Given the description of an element on the screen output the (x, y) to click on. 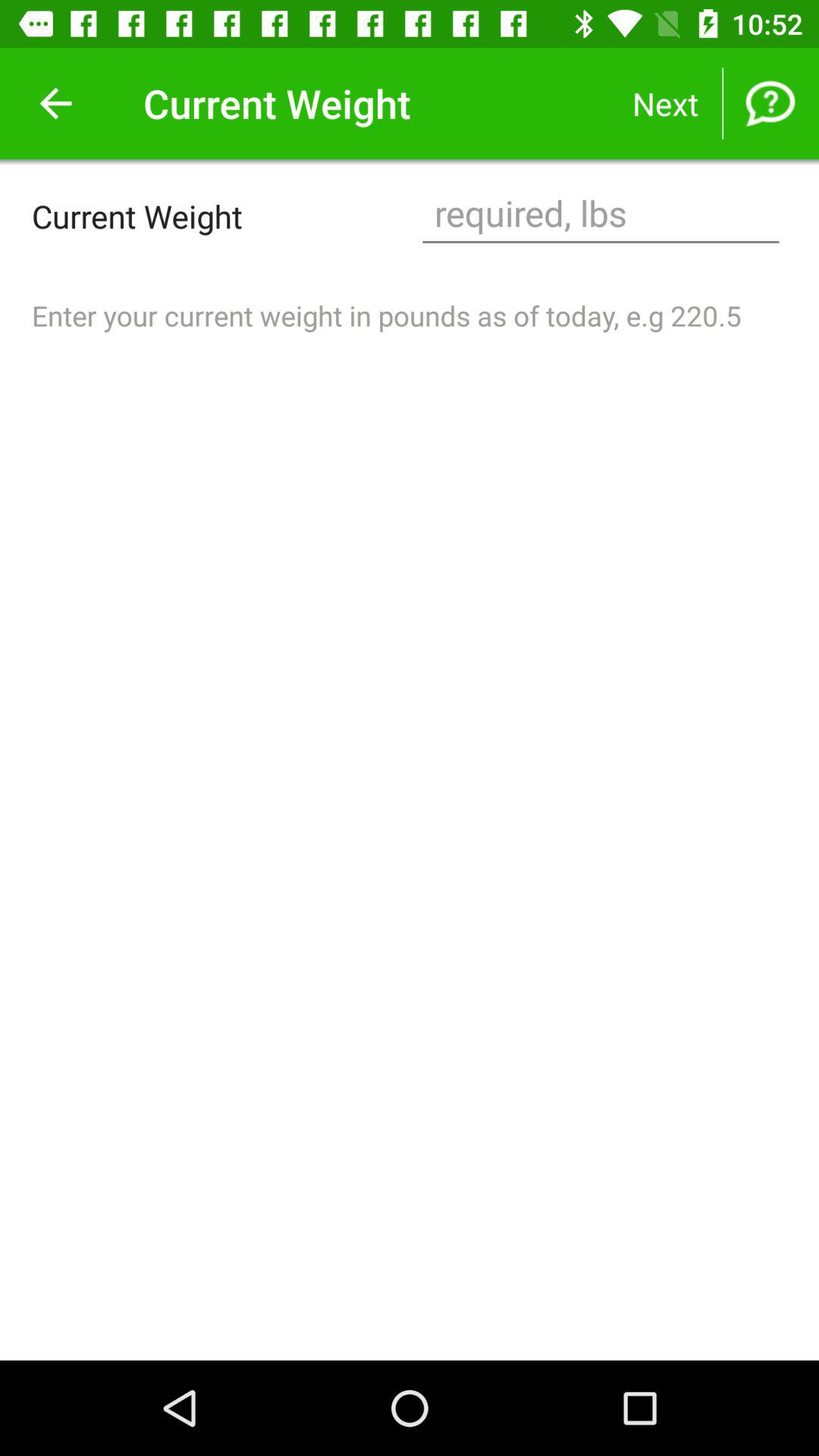
select the item above enter your current item (600, 215)
